Given the description of an element on the screen output the (x, y) to click on. 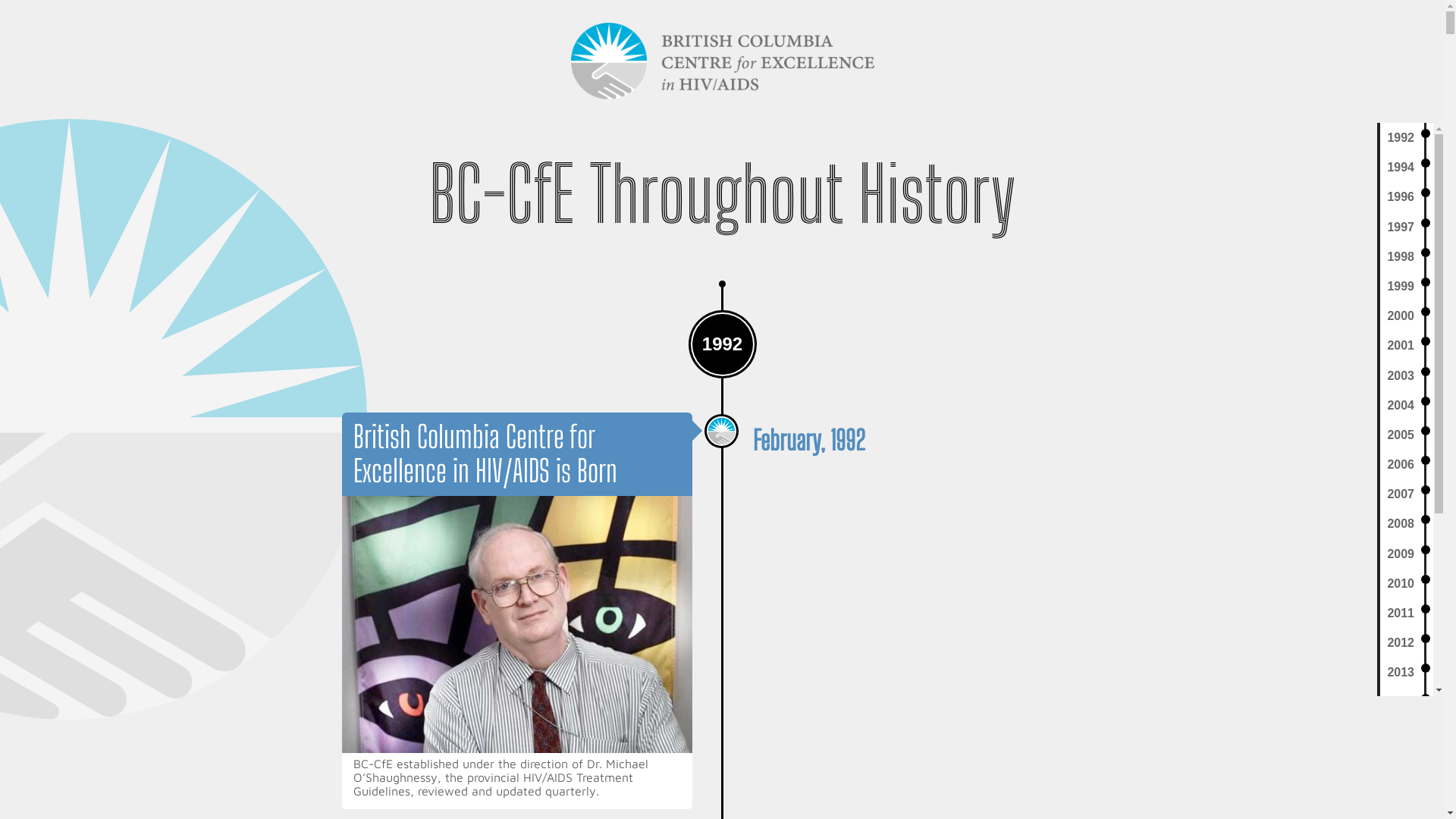
1994 Element type: text (1406, 167)
2006 Element type: text (1406, 464)
2003 Element type: text (1406, 375)
2015 Element type: text (1406, 731)
2004 Element type: text (1406, 405)
2014 Element type: text (1406, 702)
2007 Element type: text (1406, 493)
1997 Element type: text (1406, 226)
2010 Element type: text (1406, 583)
2016 Element type: text (1406, 761)
1998 Element type: text (1406, 256)
BC-CfE Logo Element type: hover (721, 60)
2005 Element type: text (1406, 434)
2012 Element type: text (1406, 642)
2017 Element type: text (1406, 791)
1999 Element type: text (1406, 286)
2008 Element type: text (1406, 523)
1996 Element type: text (1406, 196)
British Columbia Centre for Excellence in HIV/AIDS is Born Element type: text (485, 453)
2011 Element type: text (1406, 612)
2013 Element type: text (1406, 672)
2001 Element type: text (1406, 345)
2009 Element type: text (1406, 553)
1992 Element type: text (1406, 137)
2000 Element type: text (1406, 315)
